Given the description of an element on the screen output the (x, y) to click on. 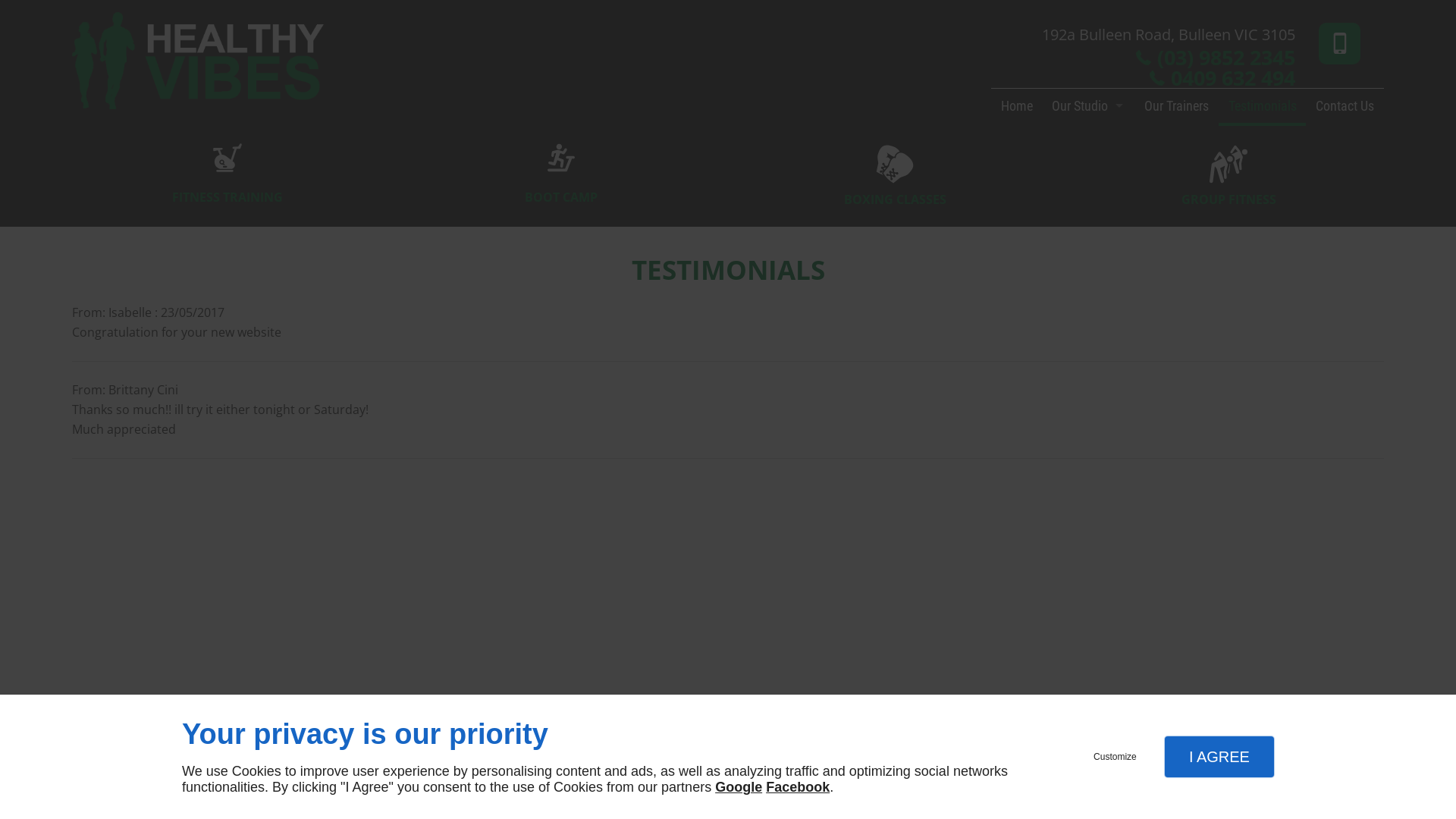
0409 632 494 Element type: text (1232, 77)
BOOT CAMP Element type: text (560, 172)
TERMS AND CONDITIONS Element type: text (1200, 787)
BOXING CLASSES Element type: text (894, 191)
PRIVACY POLICY Element type: text (1299, 787)
GROUP FITNESS Element type: text (1228, 191)
linkeo Element type: hover (92, 788)
HOME Element type: text (1056, 787)
Our Studio Element type: text (1087, 106)
Facebook Element type: hover (698, 741)
FITNESS TRAINING Element type: text (227, 172)
Mybusiness Element type: hover (757, 741)
Instagram Element type: hover (727, 741)
Our Trainers Element type: text (1176, 106)
SITE MAP Element type: text (1363, 787)
Facebook Element type: text (797, 786)
Contact Us Element type: text (1344, 106)
(03) 9852 2345 Element type: text (1226, 57)
CONTACT US Element type: text (1107, 787)
Home Element type: text (1016, 106)
Google Element type: text (738, 786)
Testimonials Element type: text (1262, 106)
